Given the description of an element on the screen output the (x, y) to click on. 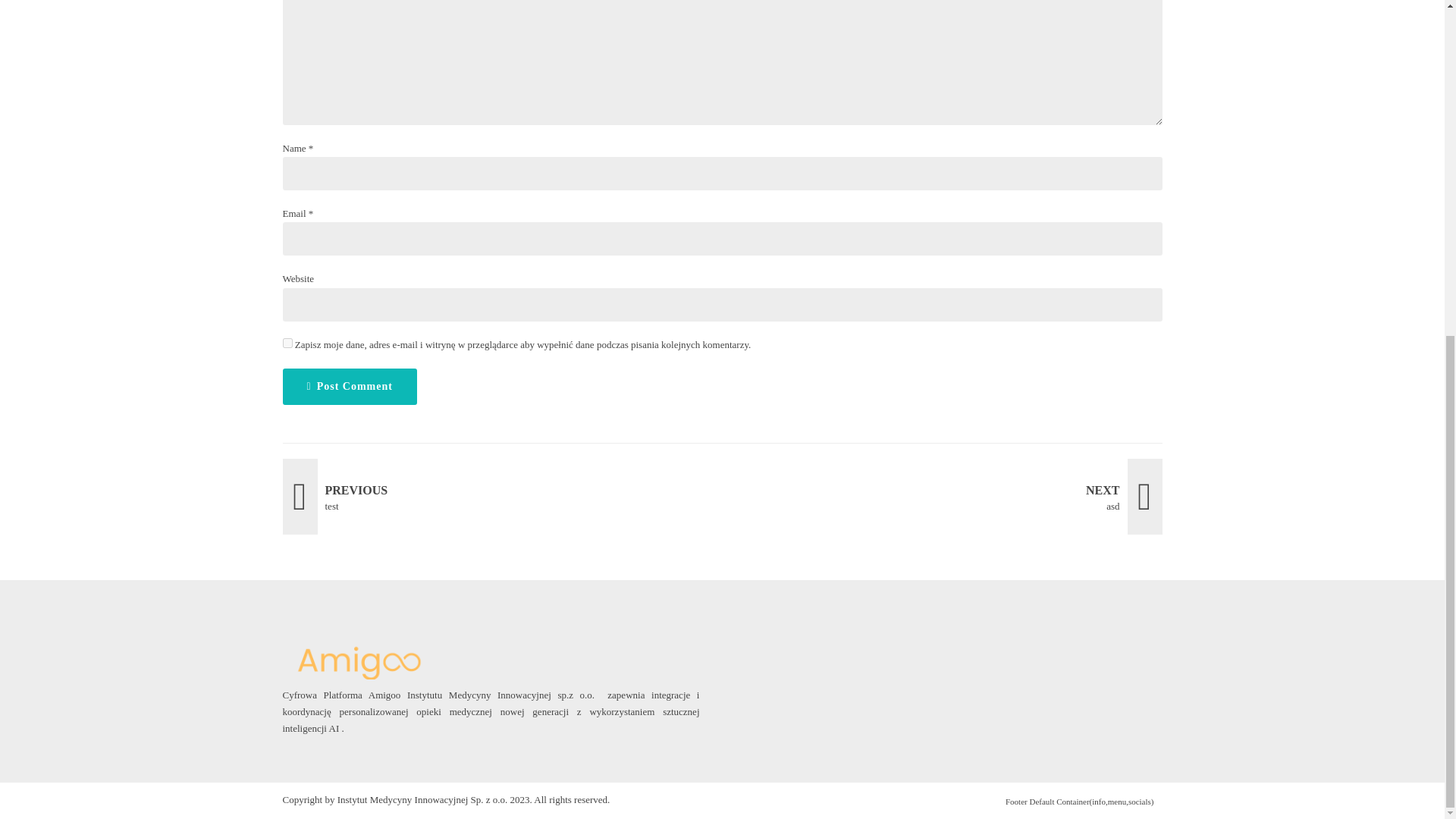
yes (947, 496)
Post Comment (287, 343)
